Given the description of an element on the screen output the (x, y) to click on. 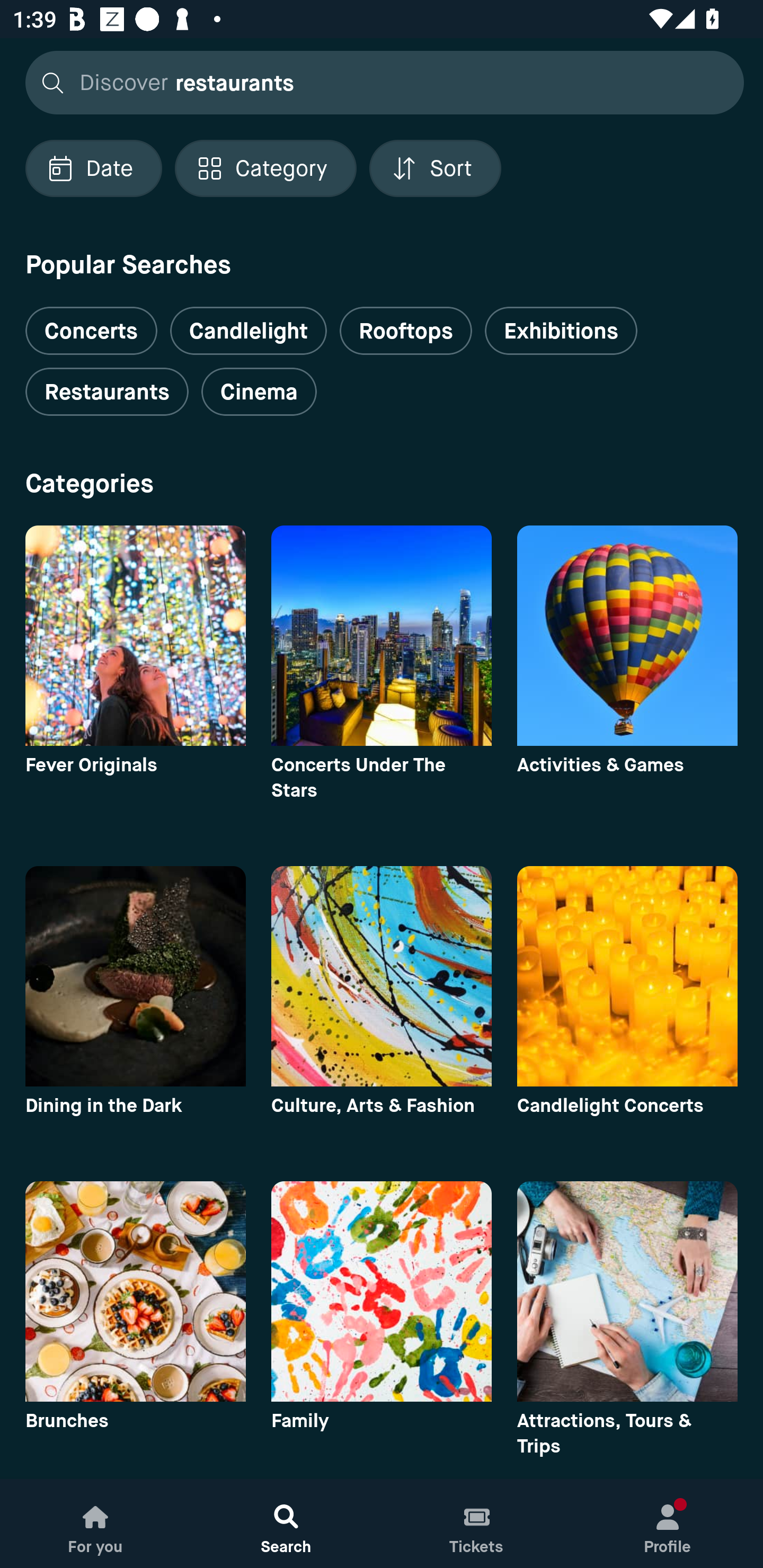
Discover restaurants (379, 81)
Localized description Date (93, 168)
Localized description Category (265, 168)
Localized description Sort (435, 168)
Concerts (91, 323)
Candlelight (248, 330)
Rooftops (405, 330)
Exhibitions (560, 330)
Restaurants (106, 391)
Cinema (258, 391)
category image (135, 635)
category image (381, 635)
category image (627, 635)
category image (135, 975)
category image (381, 975)
category image (627, 975)
category image (135, 1290)
category image (381, 1290)
category image (627, 1290)
For you (95, 1523)
Tickets (476, 1523)
Profile, New notification Profile (667, 1523)
